Given the description of an element on the screen output the (x, y) to click on. 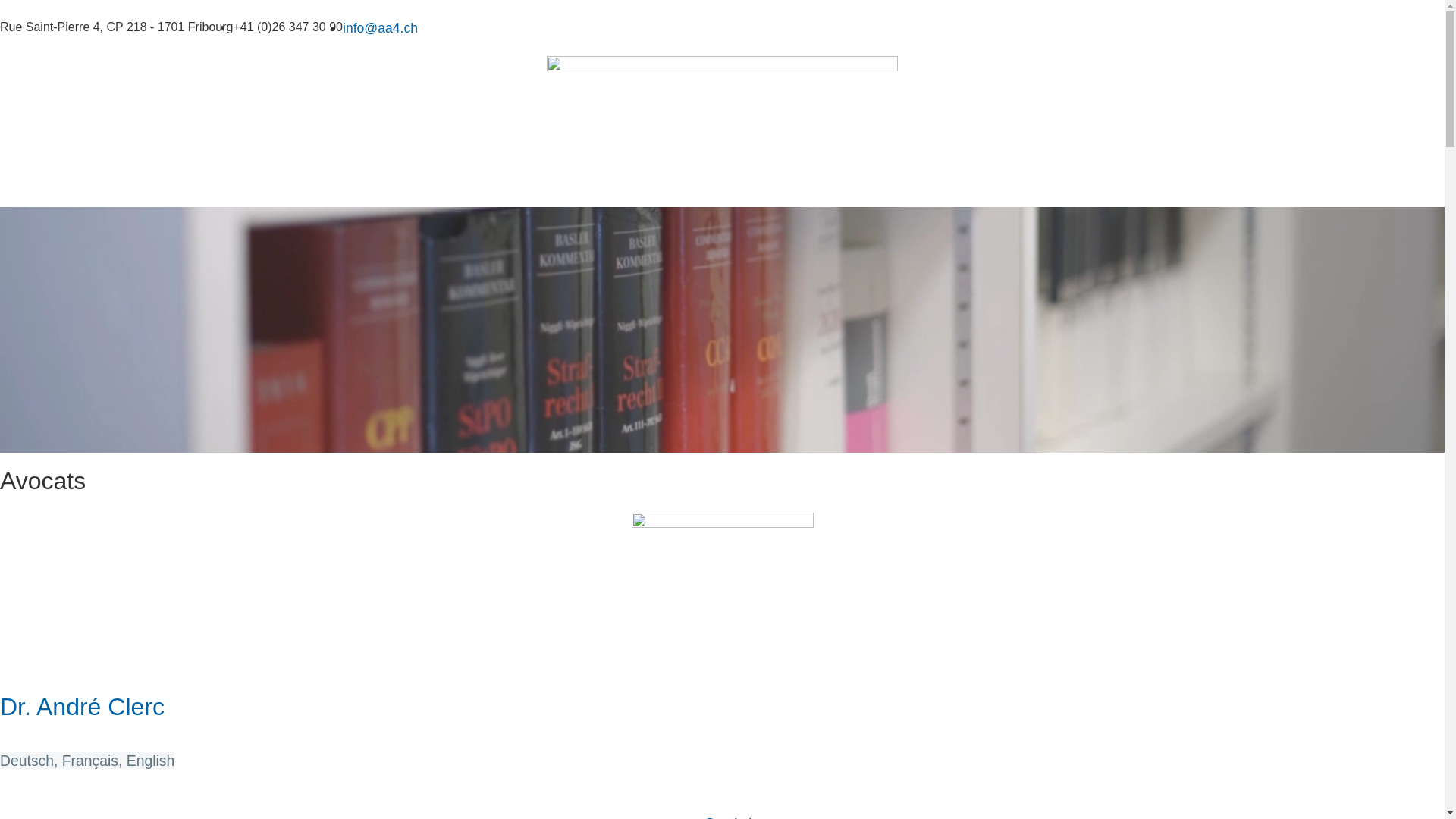
info@aa4.ch Element type: text (379, 27)
